Given the description of an element on the screen output the (x, y) to click on. 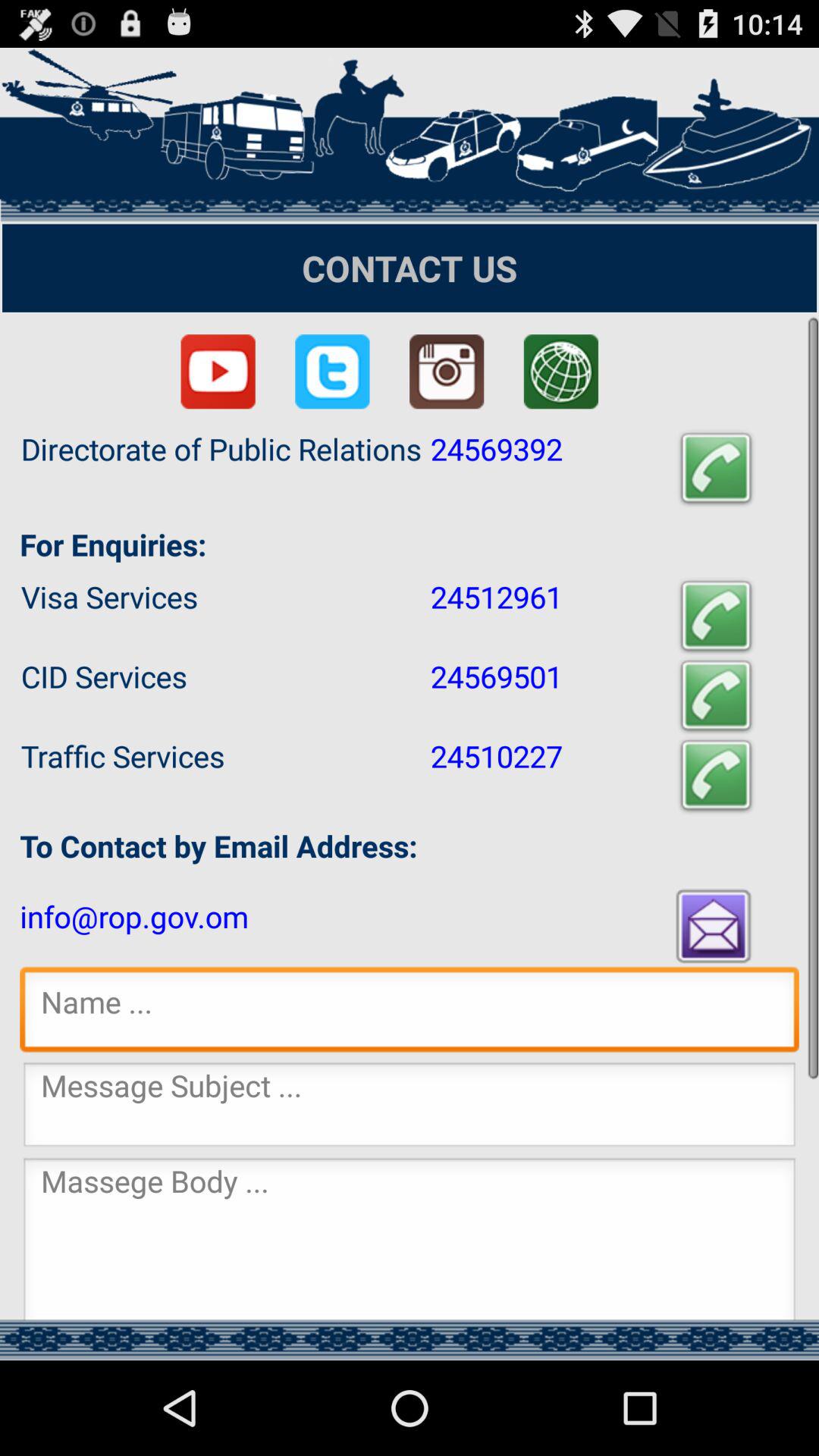
call (716, 775)
